Given the description of an element on the screen output the (x, y) to click on. 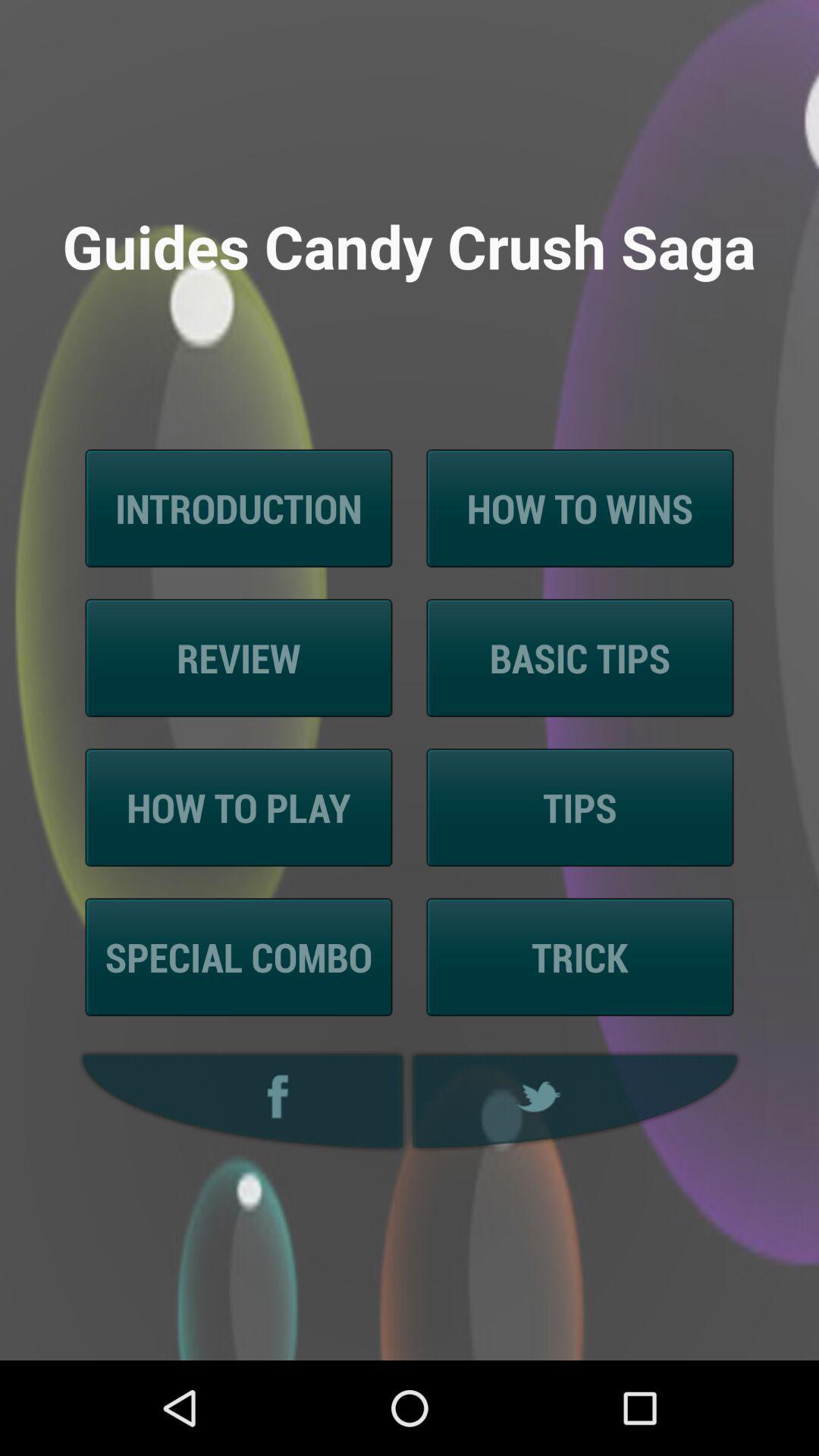
tap special combo (238, 957)
